Given the description of an element on the screen output the (x, y) to click on. 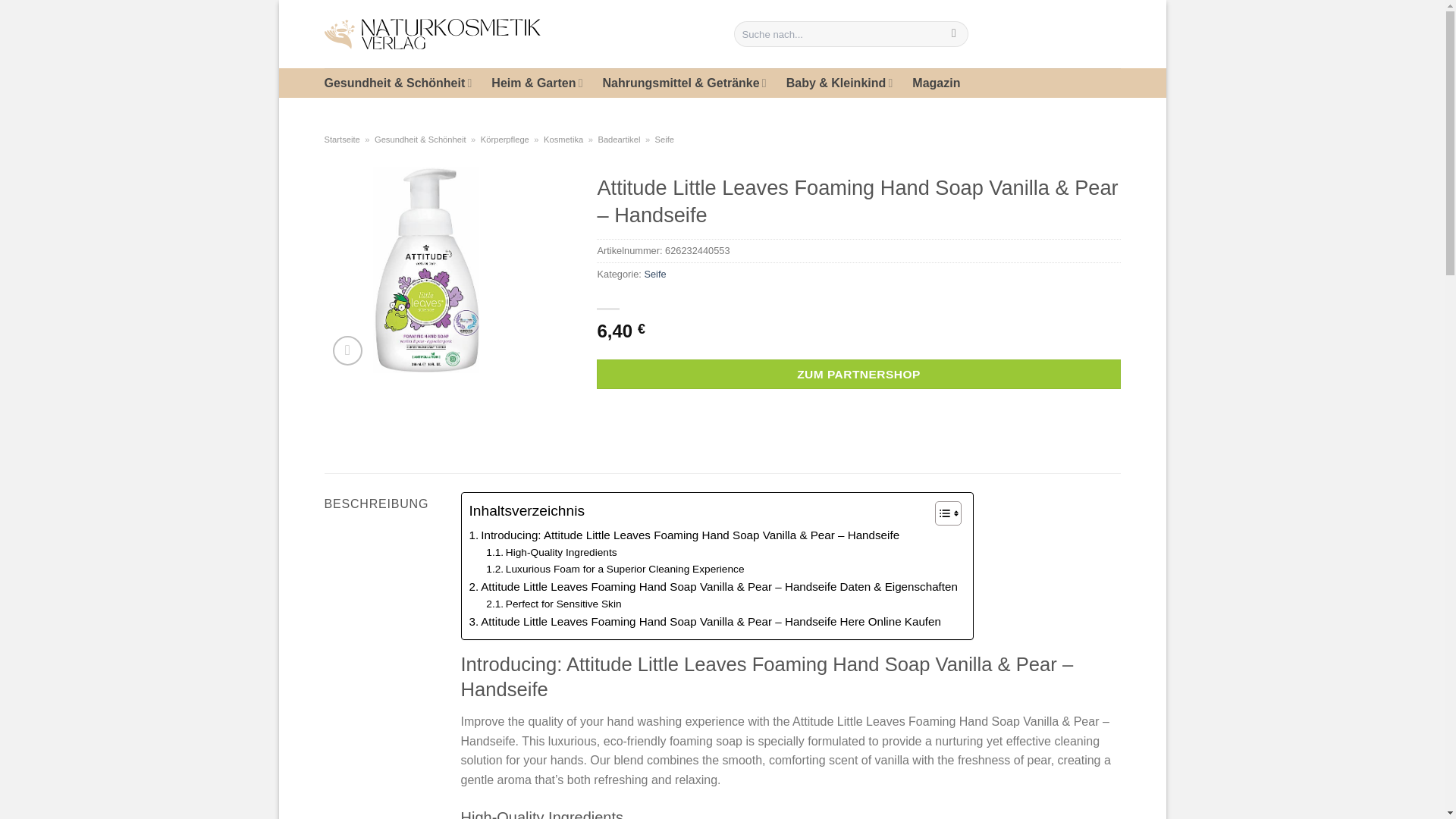
Startseite (341, 139)
Zoom (347, 350)
Kosmetika (563, 139)
High-Quality Ingredients (550, 552)
Naturkosmetik-Verlag.de (517, 34)
Luxurious Foam for a Superior Cleaning Experience (615, 569)
Perfect for Sensitive Skin (553, 604)
